Given the description of an element on the screen output the (x, y) to click on. 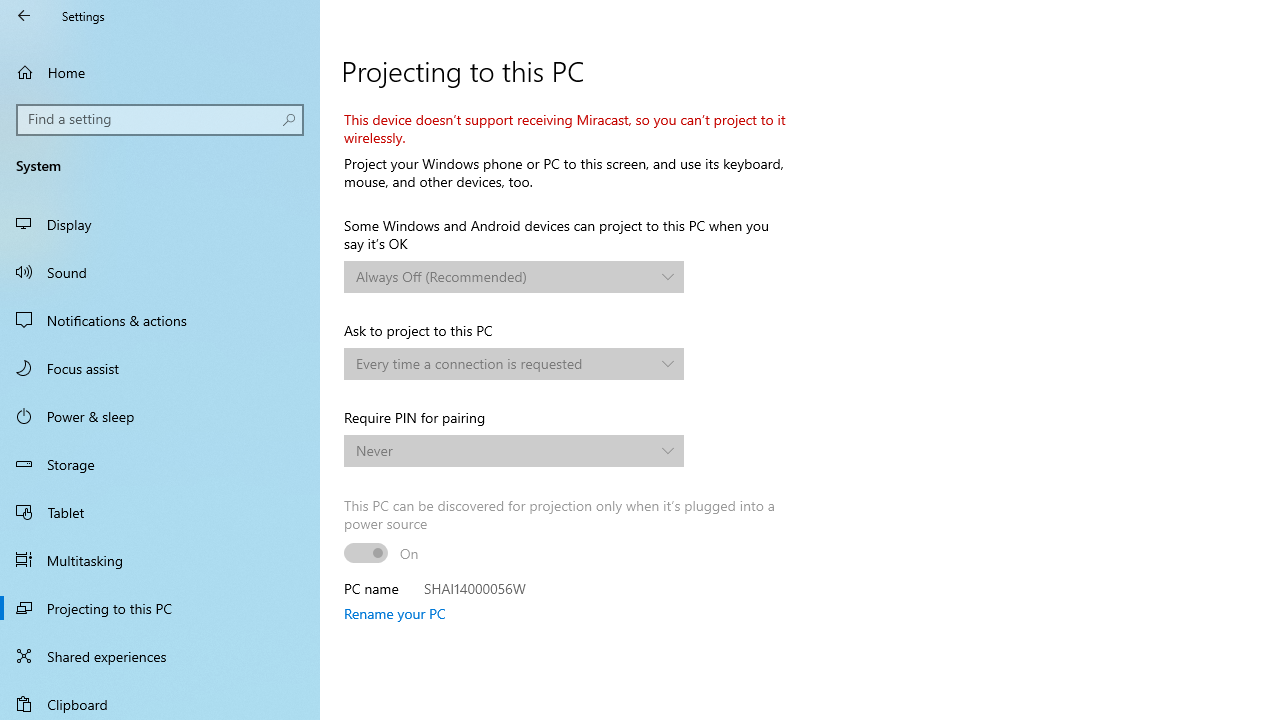
Storage (160, 463)
Ask to project to this PC (513, 363)
Notifications & actions (160, 319)
Focus assist (160, 367)
Multitasking (160, 559)
Projecting to this PC (160, 607)
